Given the description of an element on the screen output the (x, y) to click on. 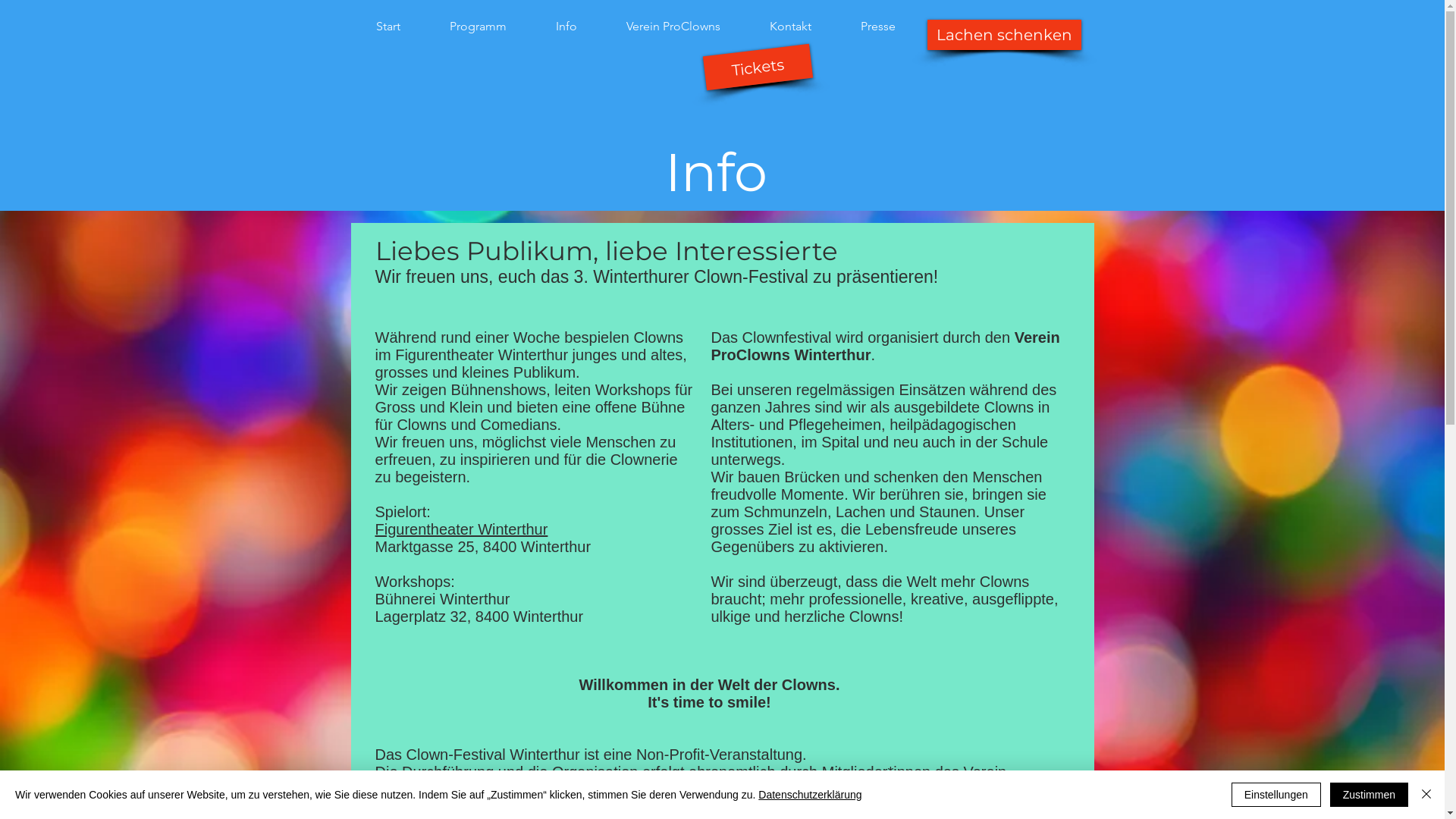
Start Element type: text (387, 26)
Zustimmen Element type: text (1369, 794)
Verein ProClowns Element type: text (673, 26)
Lachen schenken Element type: text (1003, 34)
Programm Element type: text (477, 26)
Tickets Element type: text (755, 60)
Einstellungen Element type: text (1276, 794)
Kontakt Element type: text (789, 26)
Figurentheater Winterthur Element type: text (460, 528)
Presse Element type: text (877, 26)
